Given the description of an element on the screen output the (x, y) to click on. 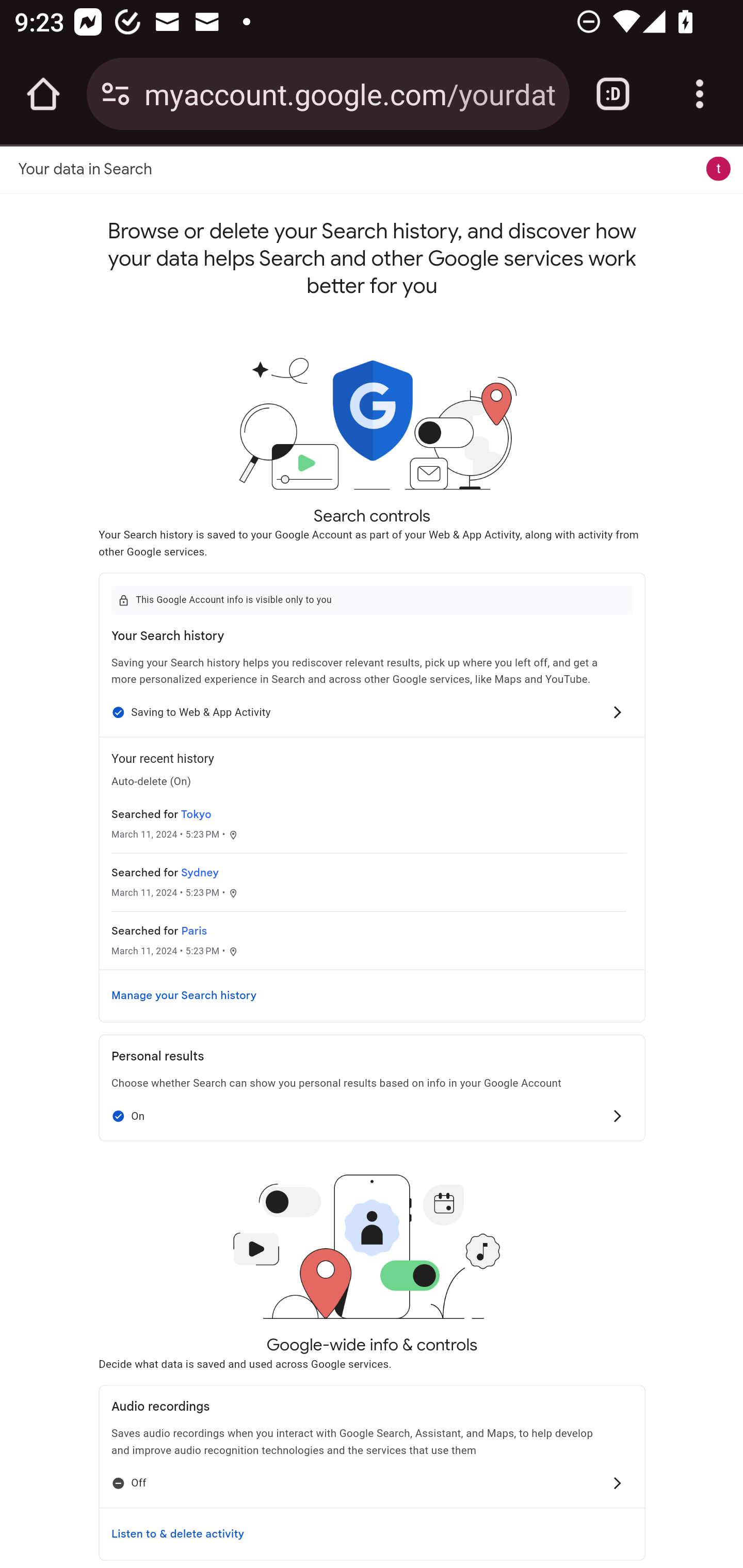
Open the home page (43, 93)
Connection is secure (115, 93)
Switch or close tabs (612, 93)
Customize and control Google Chrome (699, 93)
Tokyo (195, 814)
Sydney (199, 873)
Paris (194, 930)
Manage your Search history (371, 995)
Personal results: On. Manage setting. On (371, 1116)
Audio recordings: Off. Manage setting. Off (371, 1483)
Listen to & delete activity (371, 1533)
